Given the description of an element on the screen output the (x, y) to click on. 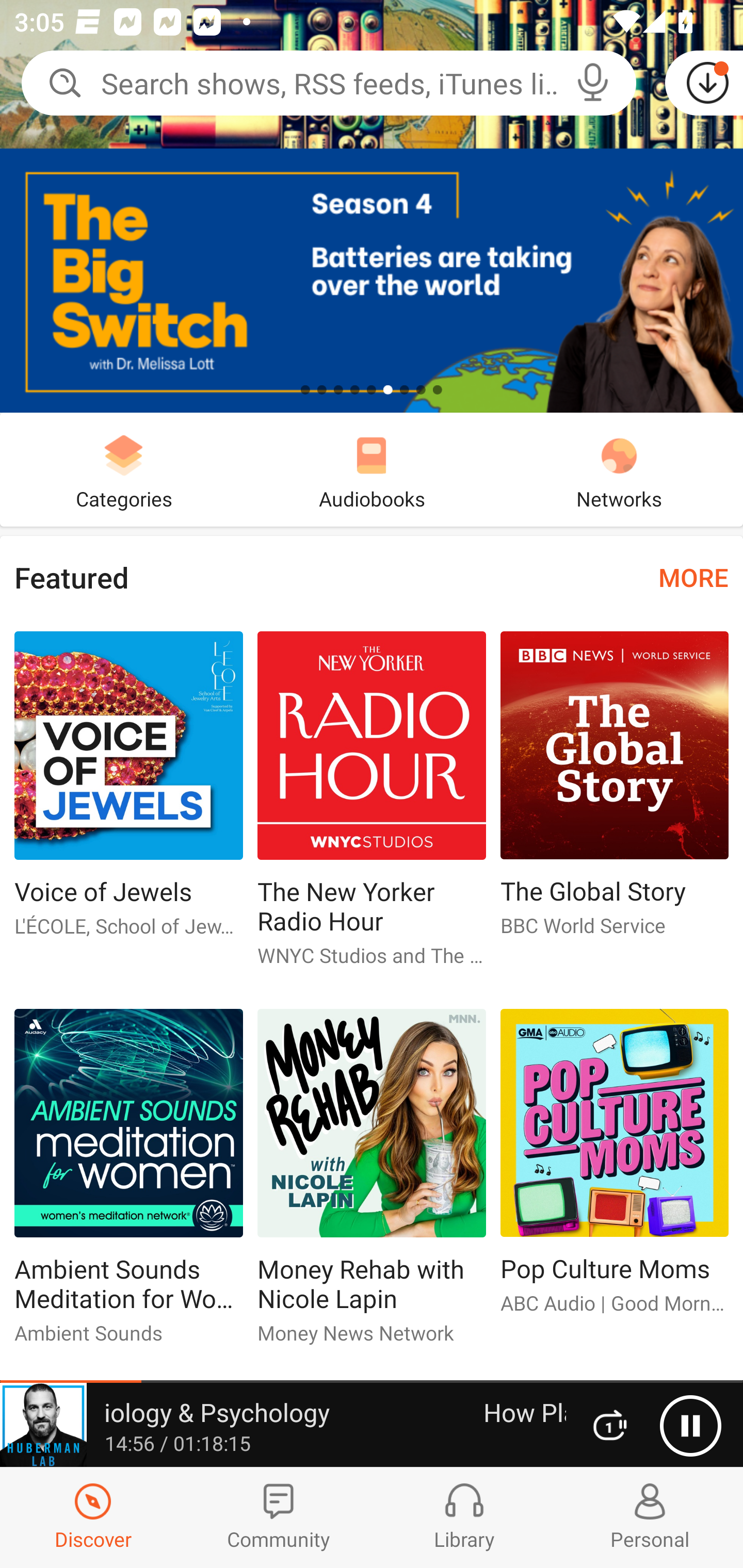
Part 1: Are Batteries the New Oil? (371, 206)
Categories (123, 469)
Audiobooks (371, 469)
Networks (619, 469)
MORE (693, 576)
Pause (690, 1425)
Discover (92, 1517)
Community (278, 1517)
Library (464, 1517)
Profiles and Settings Personal (650, 1517)
